Given the description of an element on the screen output the (x, y) to click on. 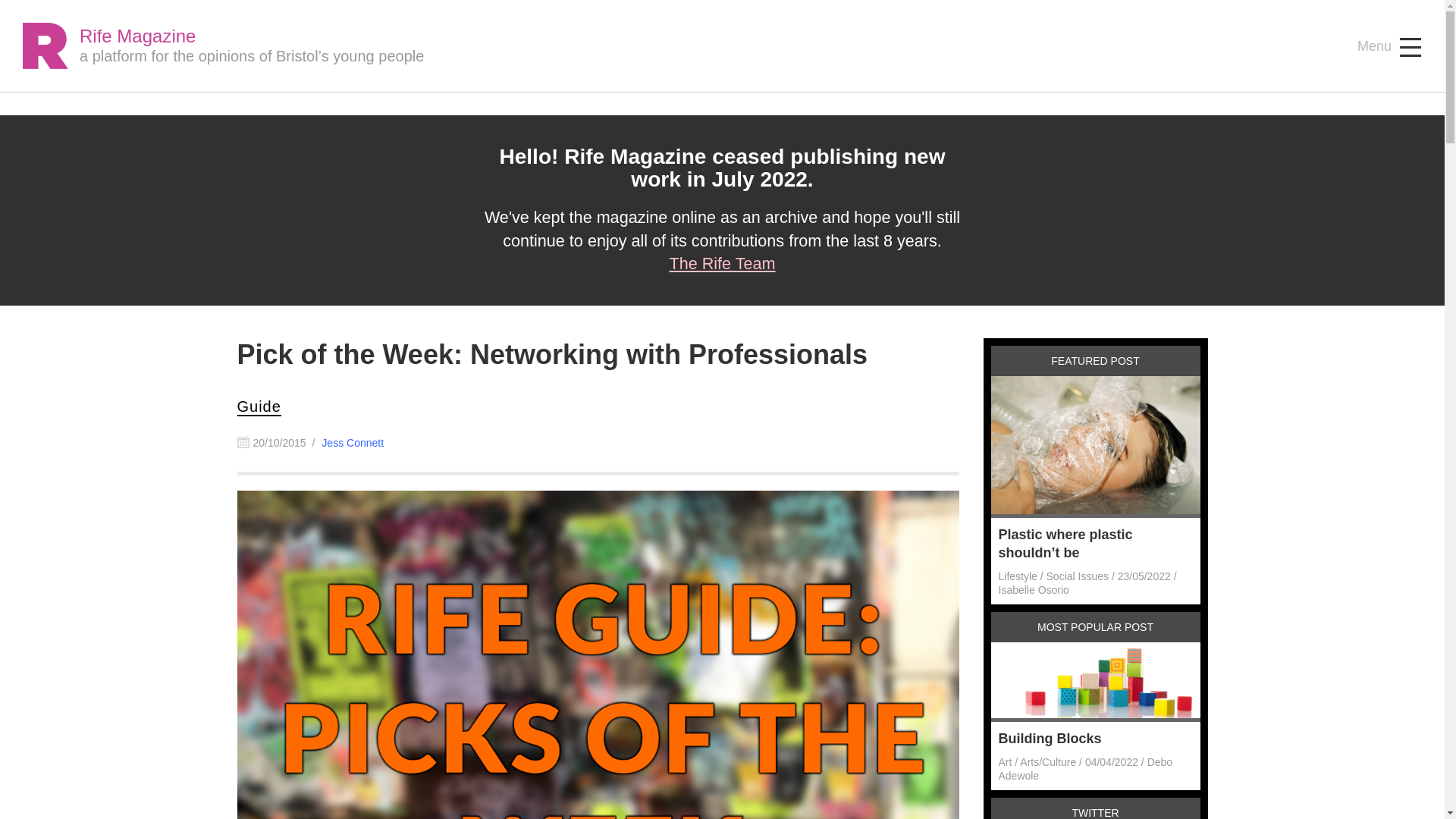
Guide (258, 407)
Menu (1389, 46)
The Rife Team (721, 262)
